Given the description of an element on the screen output the (x, y) to click on. 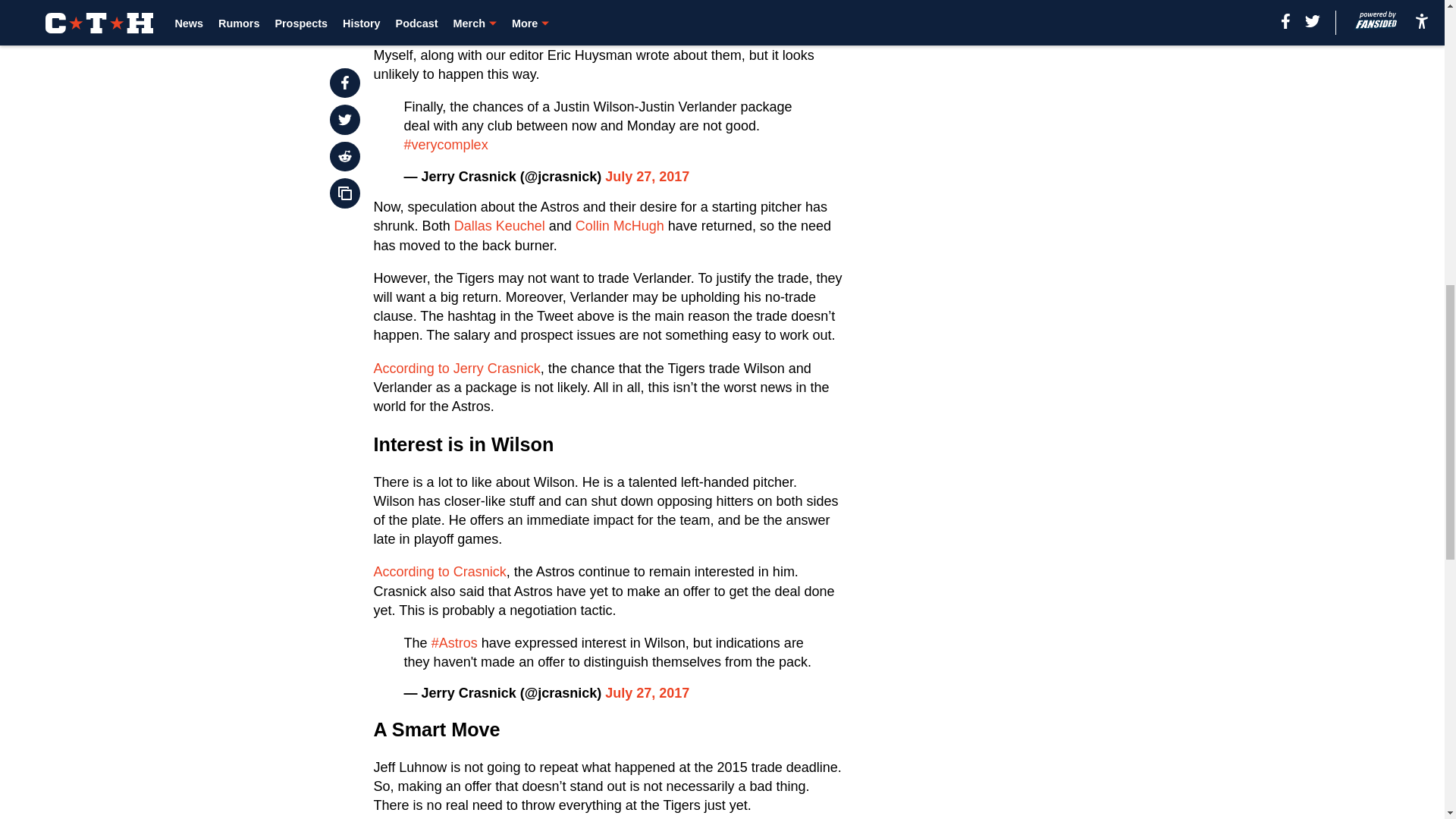
Justin Verlander (422, 35)
Dallas Keuchel (499, 225)
Collin McHugh (619, 225)
July 27, 2017 (646, 176)
According to Jerry Crasnick (457, 368)
Justin Wilson (542, 35)
